Given the description of an element on the screen output the (x, y) to click on. 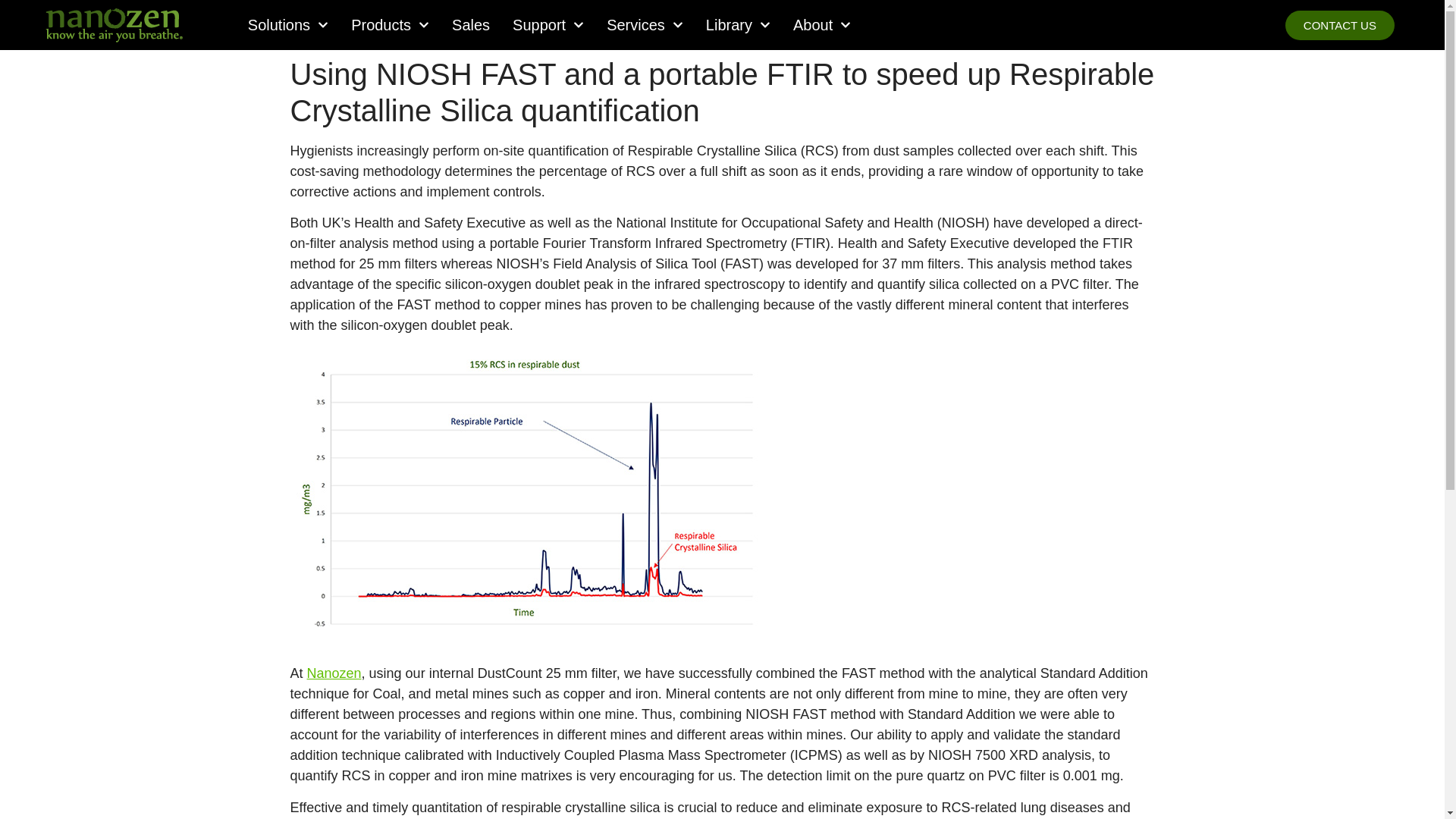
Support (547, 24)
Services (644, 24)
Products (390, 24)
Sales (470, 24)
Library (737, 24)
Solutions (287, 24)
About (821, 24)
